Given the description of an element on the screen output the (x, y) to click on. 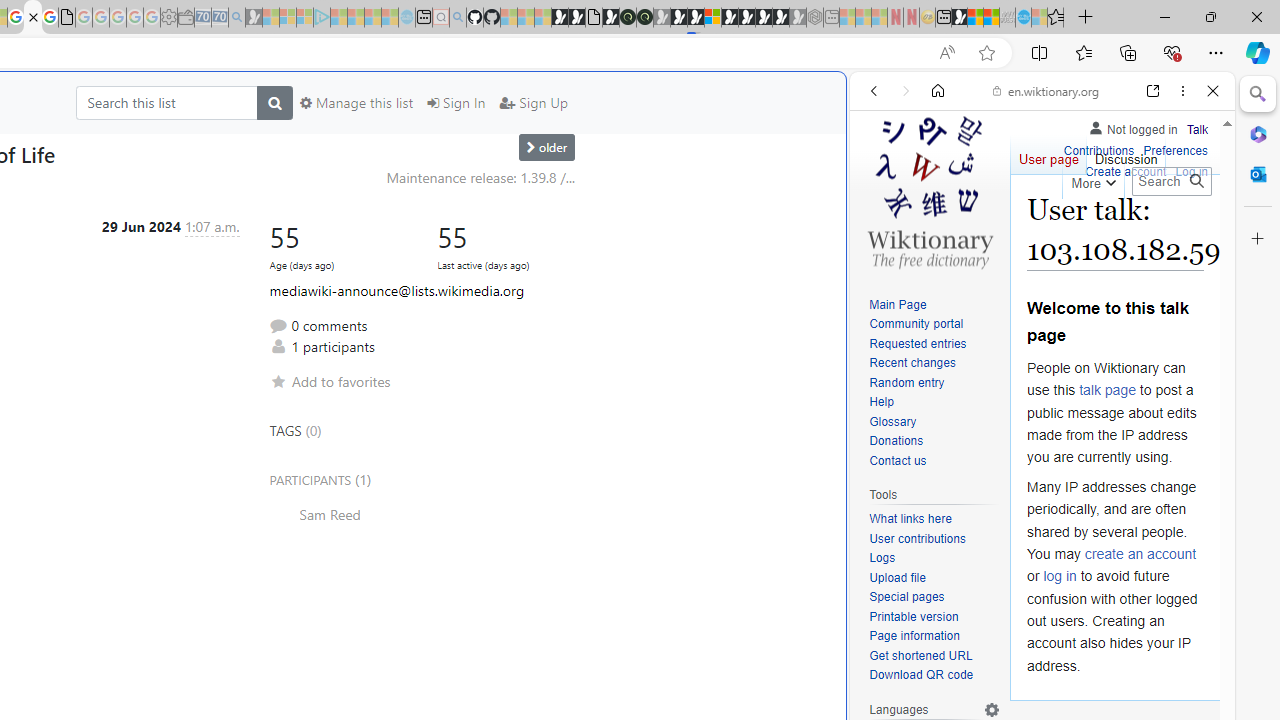
Talk (1197, 129)
Services - Maintenance | Sky Blue Bikes - Sky Blue Bikes (1023, 17)
Search Wiktionary (1171, 181)
Contact us (897, 460)
Go (1196, 181)
Special pages (934, 597)
